Given the description of an element on the screen output the (x, y) to click on. 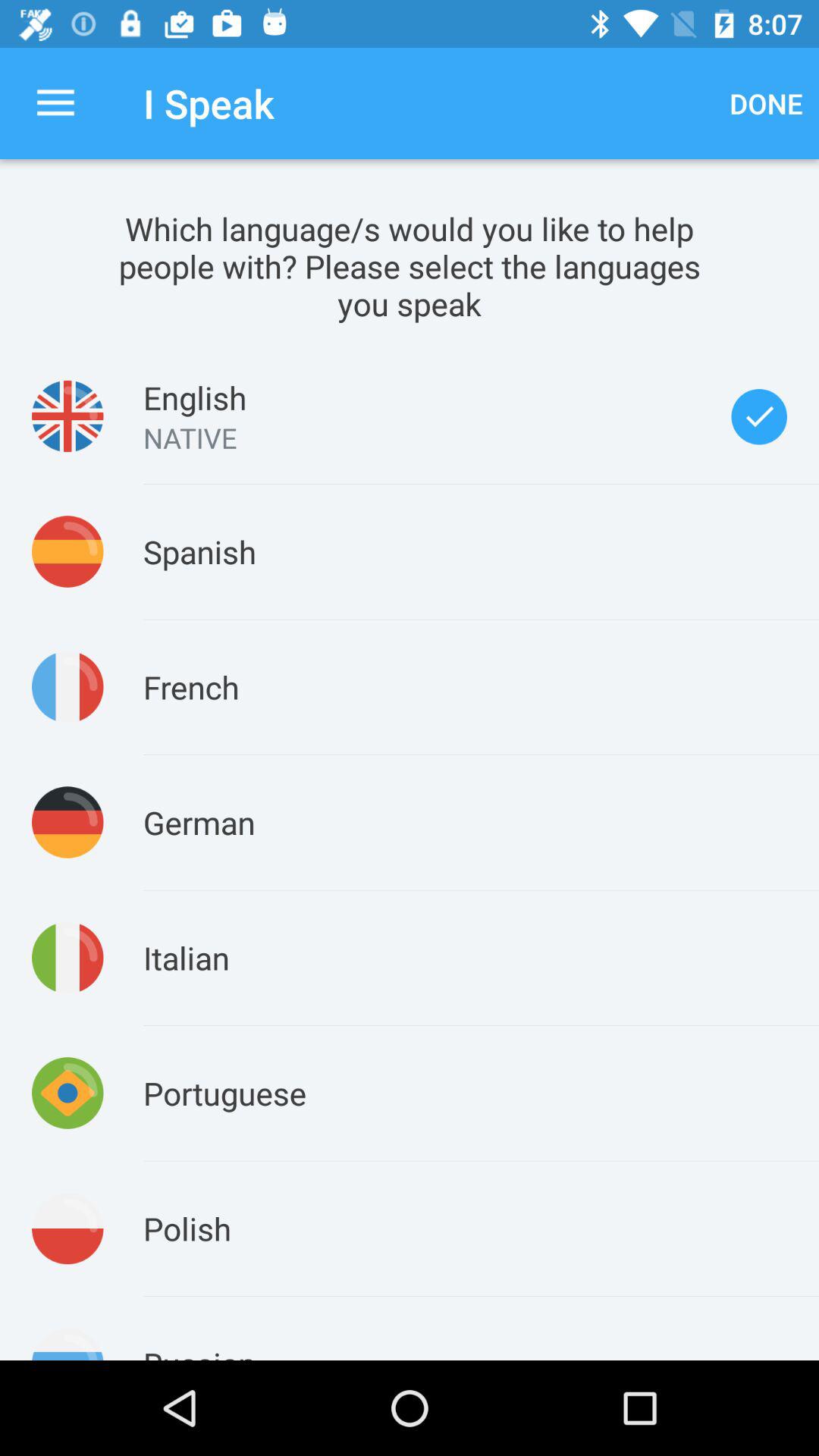
turn on icon above which language s (55, 103)
